Given the description of an element on the screen output the (x, y) to click on. 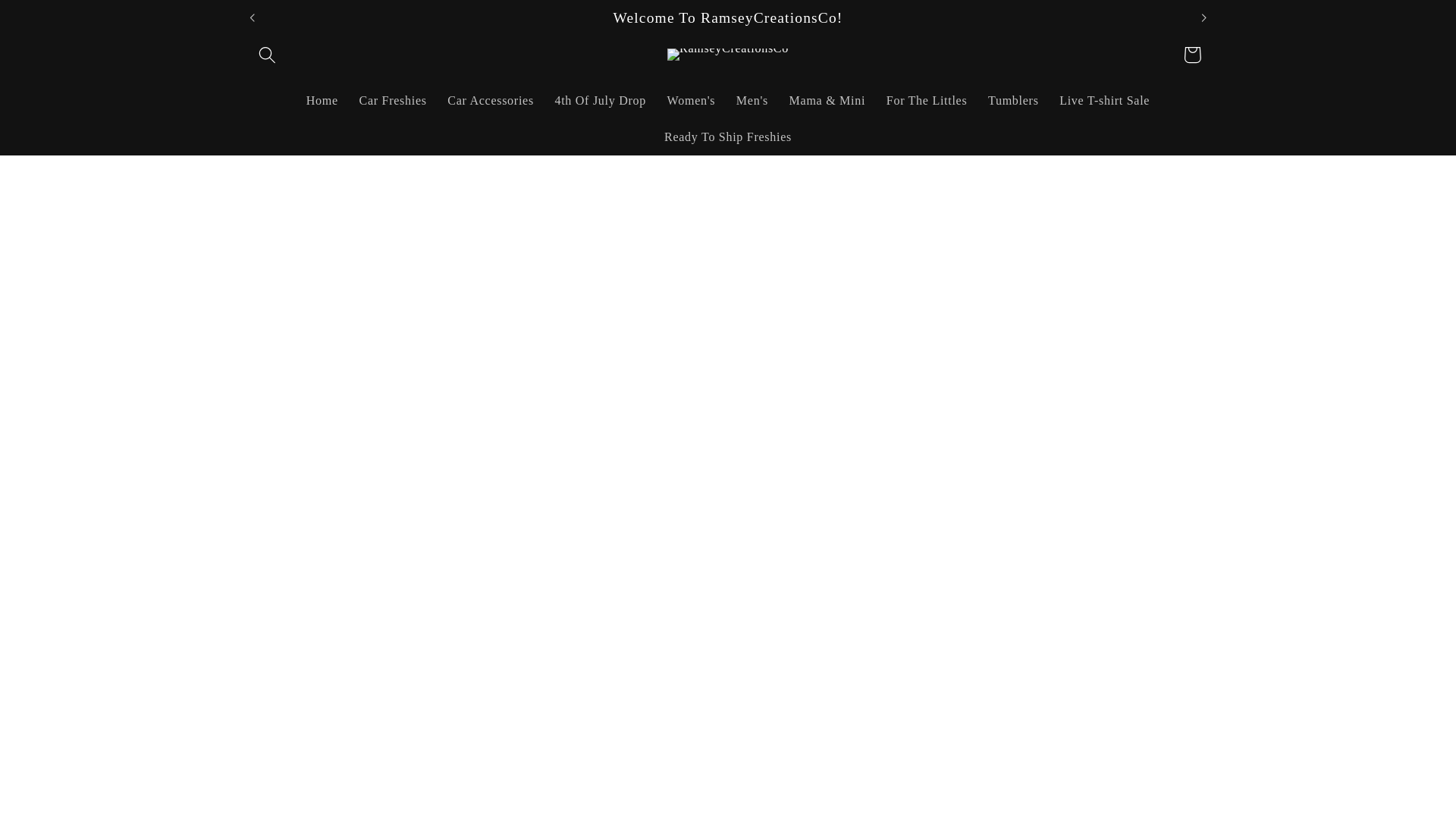
Men's (751, 101)
Home (322, 101)
Women's (690, 101)
Ready To Ship Freshies (727, 137)
Tumblers (1012, 101)
For The Littles (926, 101)
Car Freshies (393, 101)
Cart (1192, 55)
4th Of July Drop (600, 101)
Skip to content (53, 20)
Live T-shirt Sale (1104, 101)
Car Accessories (489, 101)
